Given the description of an element on the screen output the (x, y) to click on. 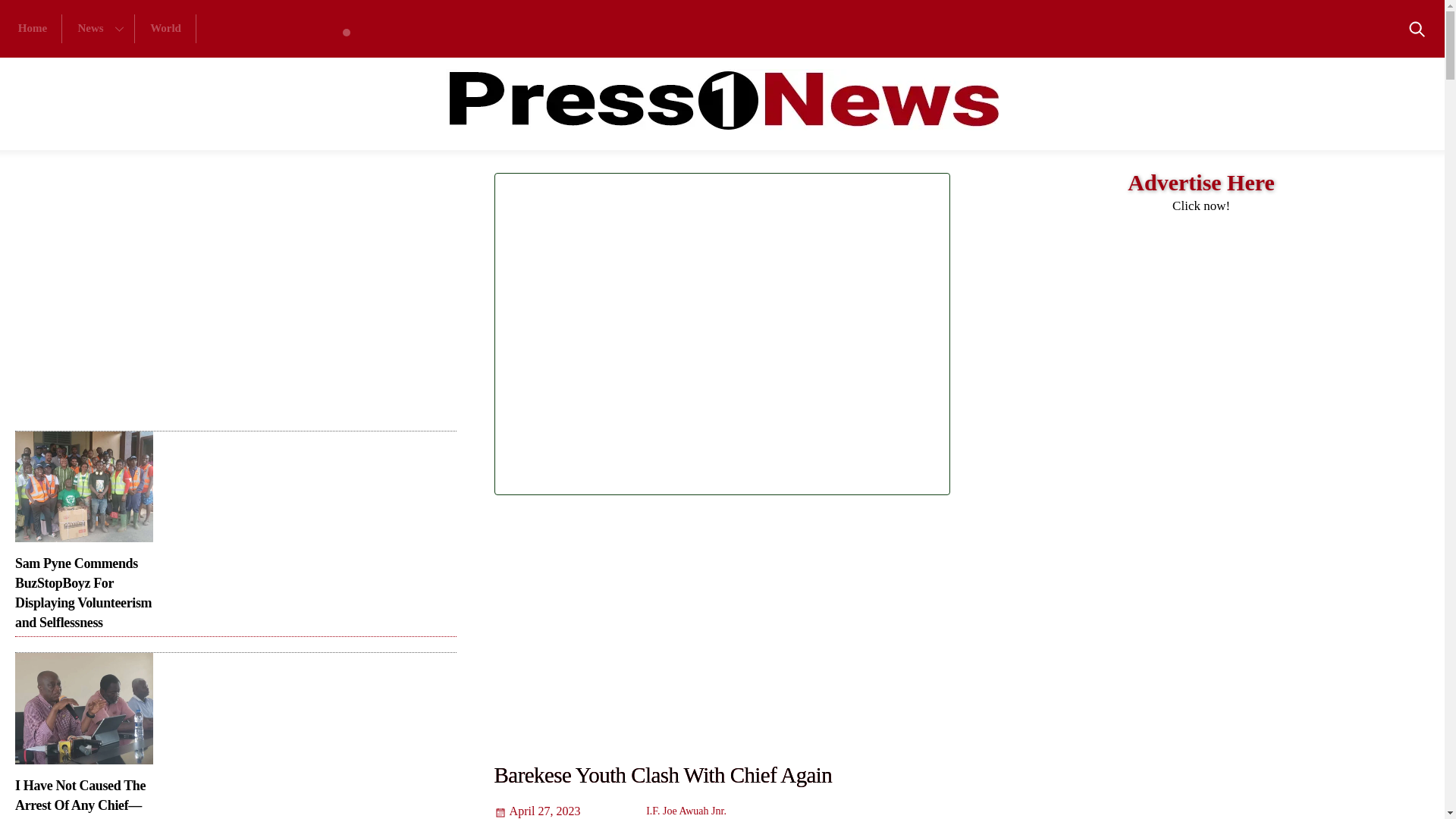
Advertisement (189, 301)
IMG-20240718-WA0247 (83, 707)
Advertisement (905, 337)
News (352, 28)
Advertisement (99, 28)
Home (165, 28)
IMG-20240724-WA0100 (33, 28)
